Given the description of an element on the screen output the (x, y) to click on. 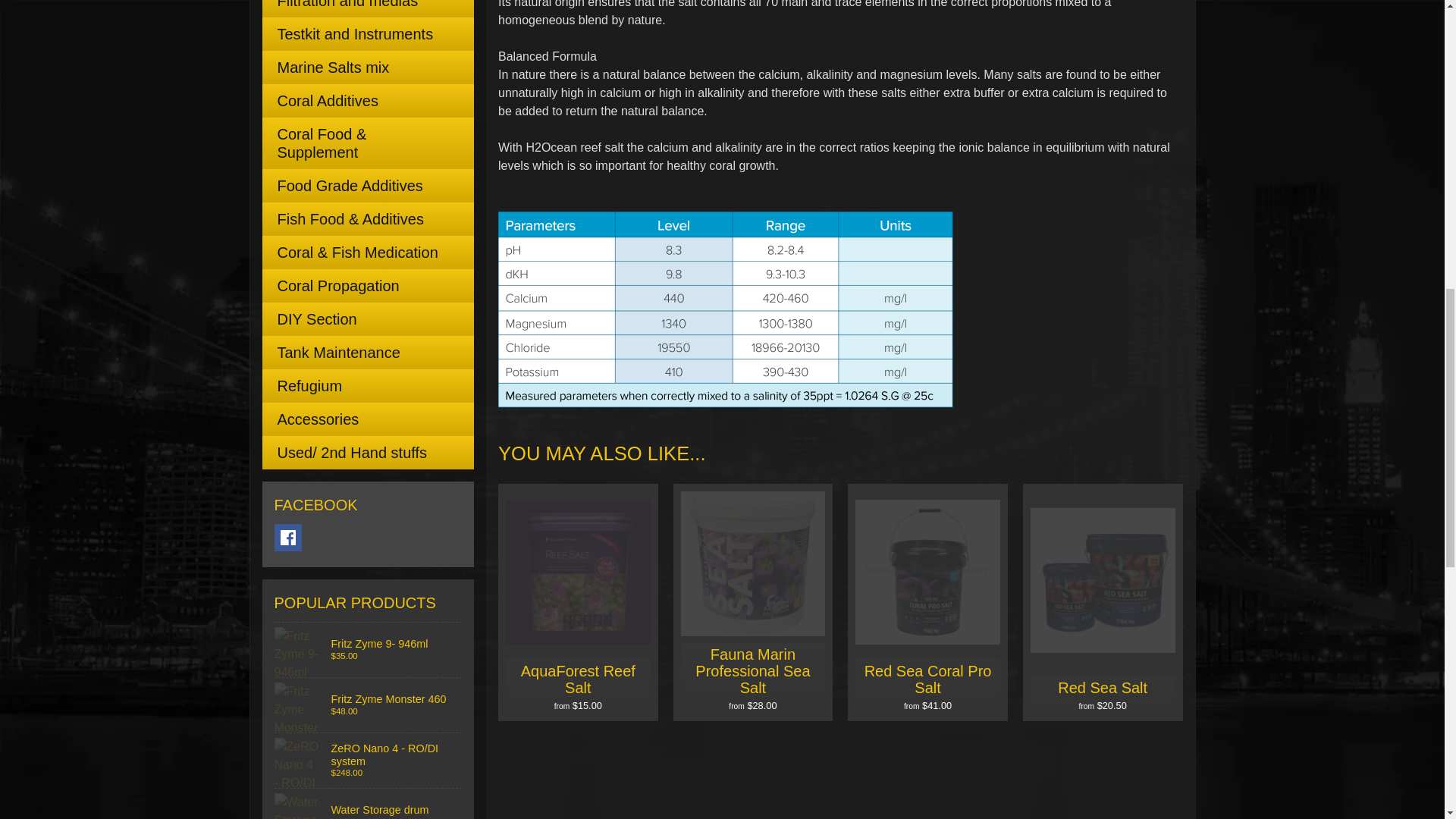
Fritz Zyme 9- 946ml (369, 649)
Water Storage drum (369, 803)
Fritz Zyme Monster 460 (369, 705)
Facebook (288, 537)
Marine Salts mix (368, 67)
Filtration and medias (368, 8)
Coral Additives (368, 100)
Testkit and Instruments (368, 33)
